Given the description of an element on the screen output the (x, y) to click on. 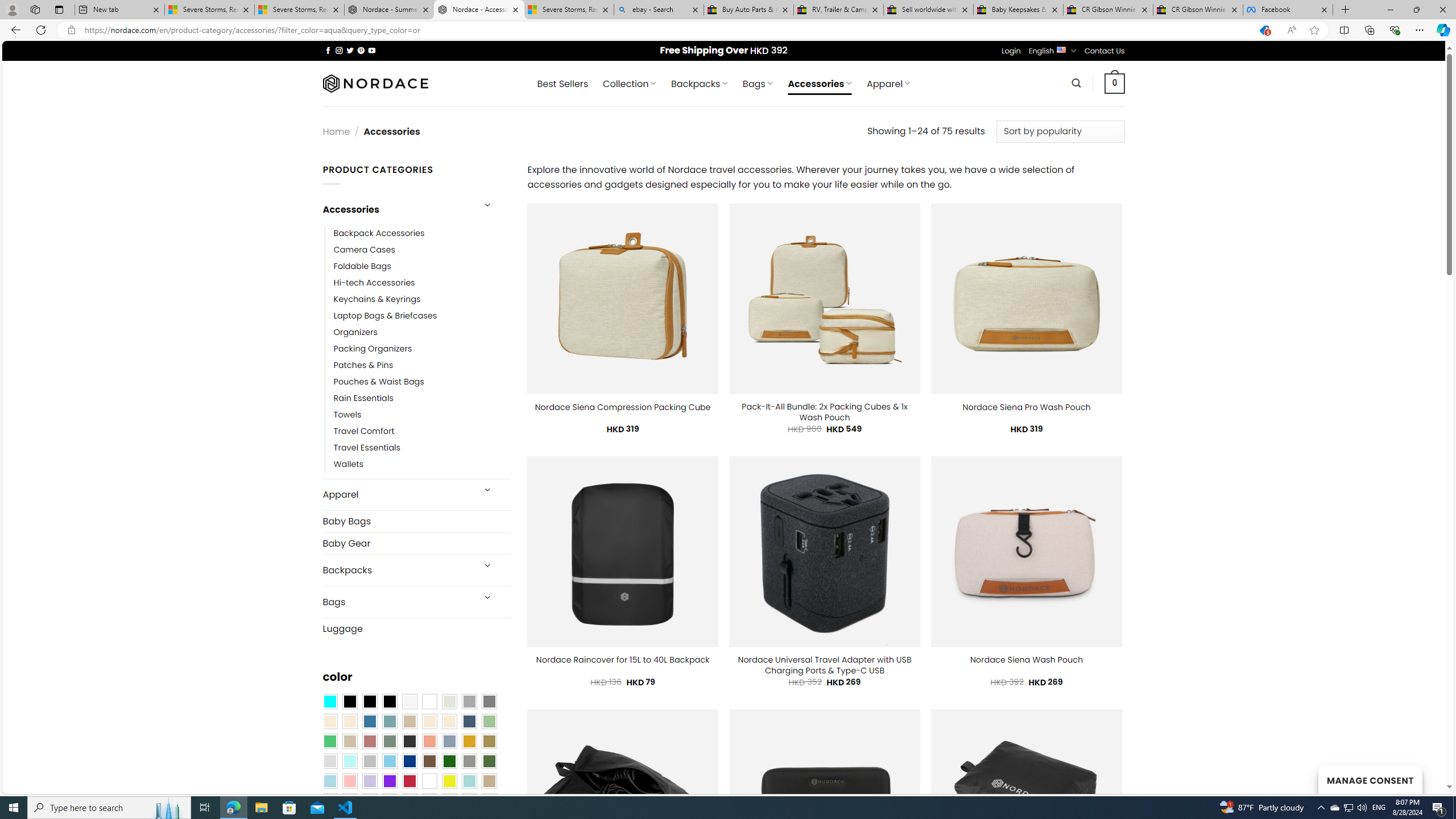
White (429, 780)
Foldable Bags (422, 265)
Travel Essentials (422, 448)
Caramel (429, 721)
Light Green (488, 721)
Navy Blue (408, 761)
Apparel (397, 494)
Aqua (468, 780)
Backpack Accessories (379, 232)
Black-Brown (389, 701)
Khaki (488, 780)
